Given the description of an element on the screen output the (x, y) to click on. 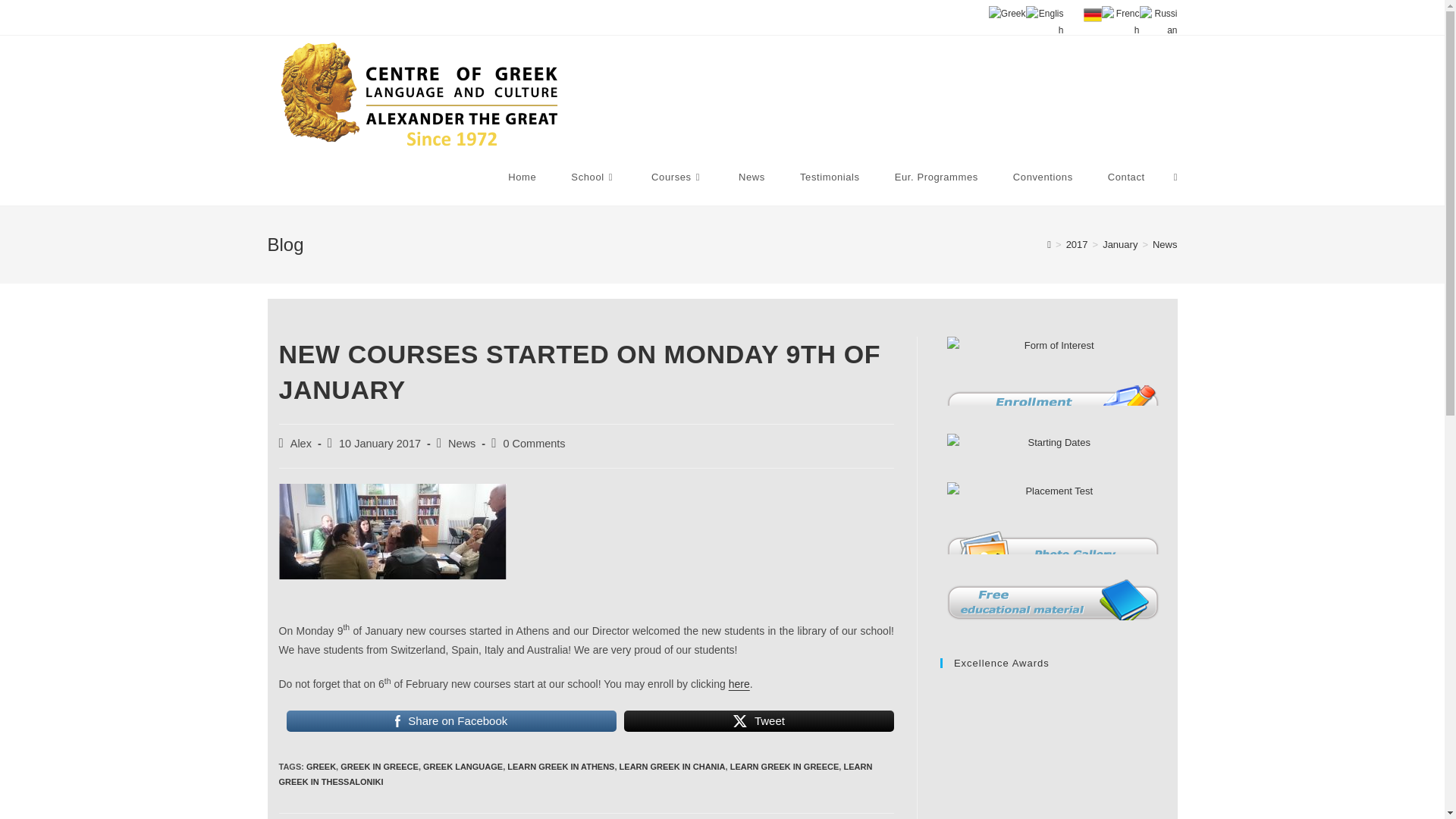
Home (521, 177)
Placement Test (1052, 506)
Contact (1125, 177)
News (751, 177)
Form of Interest (1052, 409)
Posts by Alex (300, 443)
Eur. Programmes (936, 177)
Conventions (1042, 177)
Courses (676, 177)
Photo Gallery (1052, 554)
